Given the description of an element on the screen output the (x, y) to click on. 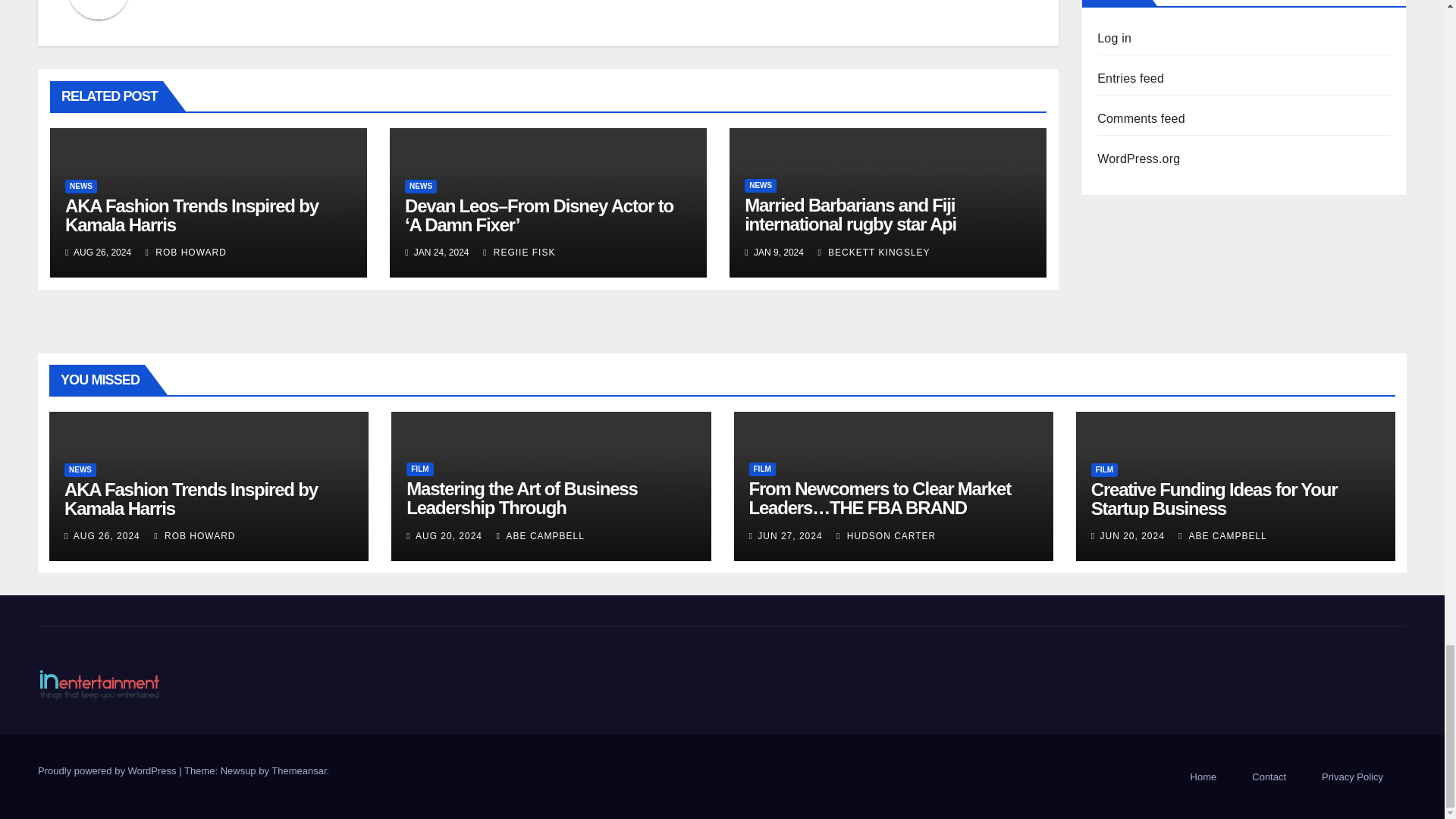
Permalink to: AKA Fashion Trends Inspired by Kamala Harris (190, 498)
AKA Fashion Trends Inspired by Kamala Harris (191, 215)
REGIIE FISK (518, 252)
NEWS (760, 185)
NEWS (420, 186)
Permalink to: AKA Fashion Trends Inspired by Kamala Harris (191, 215)
Home (1202, 776)
